Given the description of an element on the screen output the (x, y) to click on. 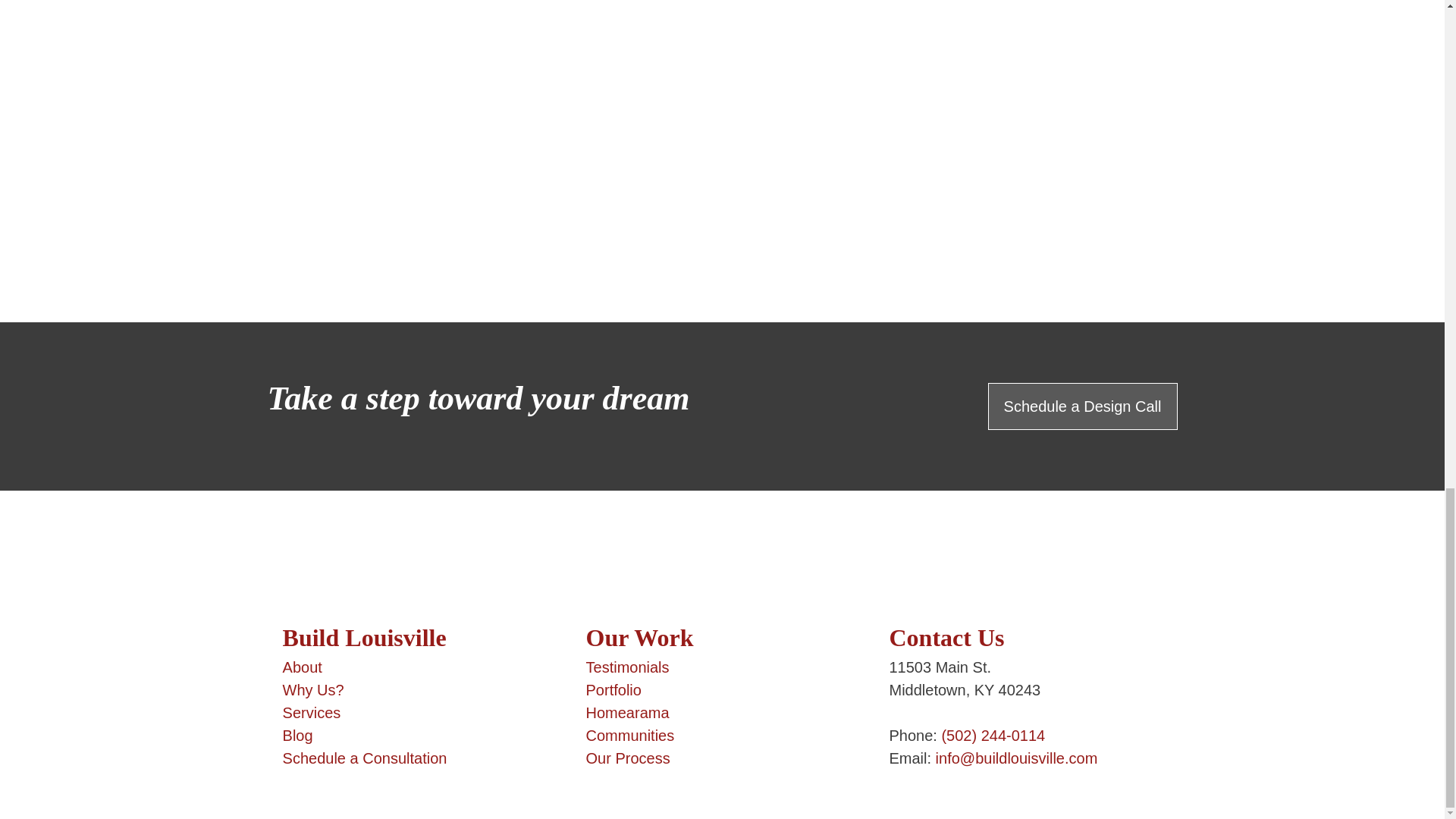
Scroll back to top (37, 314)
Schedule a Consultation (364, 758)
Blog (297, 735)
Portfolio (614, 689)
Why Us? (312, 689)
Communities (630, 735)
Services (311, 712)
Schedule a Design Call (1082, 406)
Testimonials (627, 667)
Homearama (627, 712)
